Given the description of an element on the screen output the (x, y) to click on. 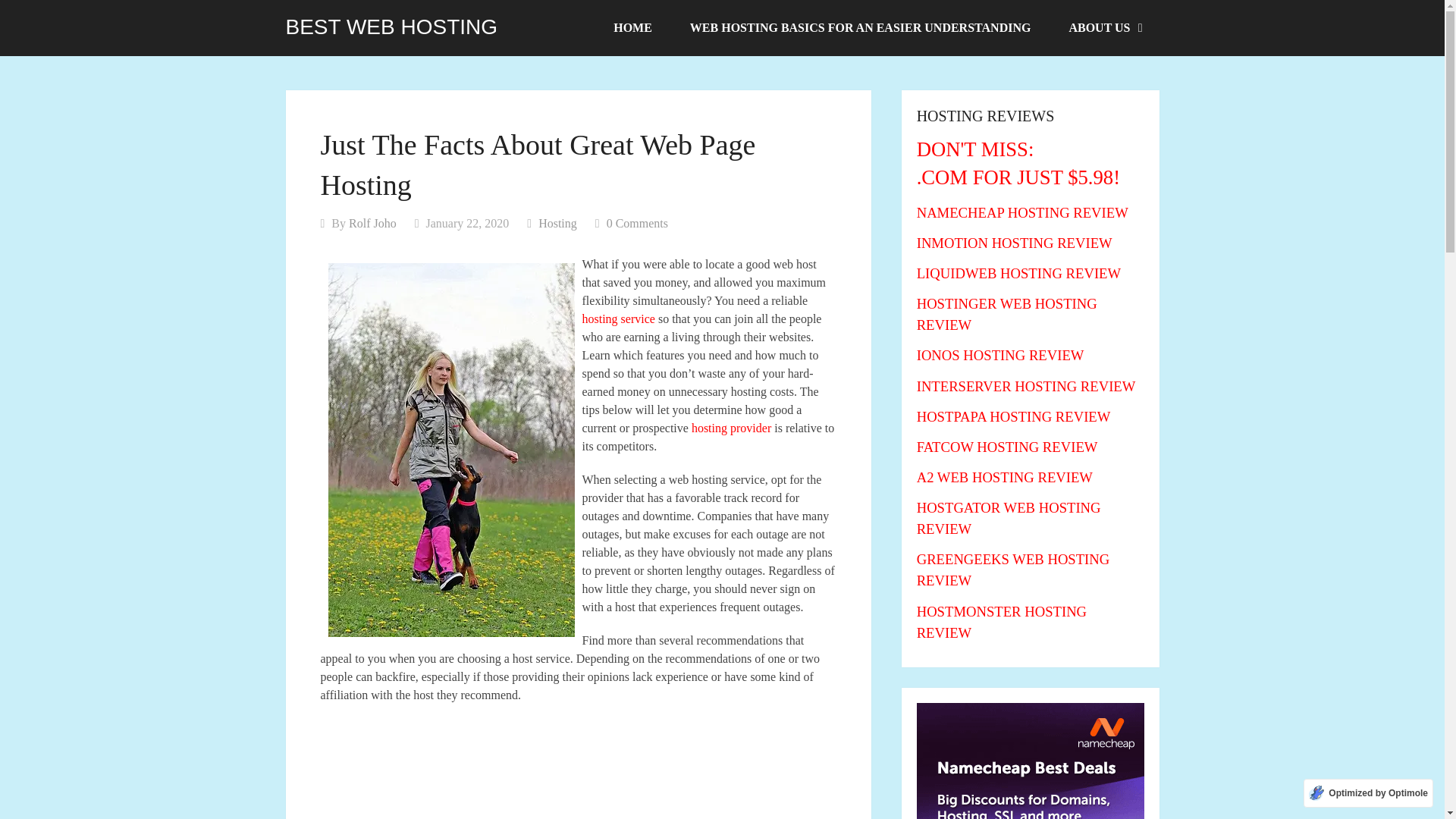
HOSTMONSTER HOSTING REVIEW (1001, 621)
HOSTINGER WEB HOSTING REVIEW (1007, 313)
FATCOW HOSTING REVIEW (1007, 446)
hosting service (618, 318)
IONOS HOSTING REVIEW (1000, 355)
Rolf Joho (372, 223)
A2 WEB HOSTING REVIEW (1005, 477)
Hosting (557, 223)
LIQUIDWEB HOSTING REVIEW (1019, 273)
0 Comments (637, 223)
hosting provider (731, 427)
HOME (632, 28)
GREENGEEKS WEB HOSTING REVIEW (1013, 569)
NAMECHEAP HOSTING REVIEW (1022, 212)
Advertisement (577, 769)
